Given the description of an element on the screen output the (x, y) to click on. 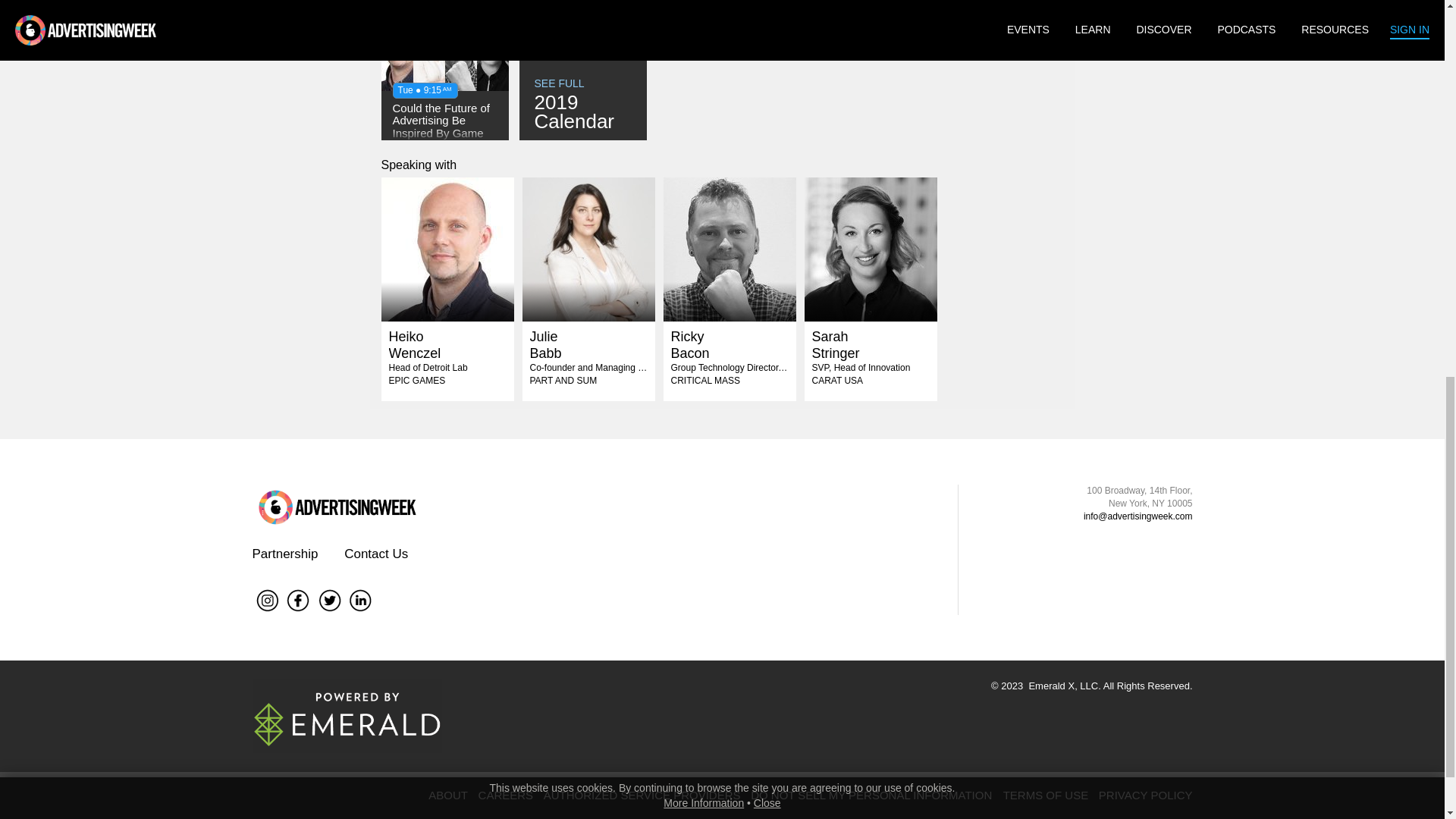
ABOUT (452, 794)
DO NOT SELL MY PERSONAL INFORMATION (871, 794)
AUTHORIZED SERVICE PROVIDERS (645, 794)
Partnership (284, 554)
TERMS OF USE (1049, 794)
emelarld-logo (587, 249)
More Information (582, 73)
CAREERS (346, 715)
Close (446, 249)
Emerald X (703, 52)
